Given the description of an element on the screen output the (x, y) to click on. 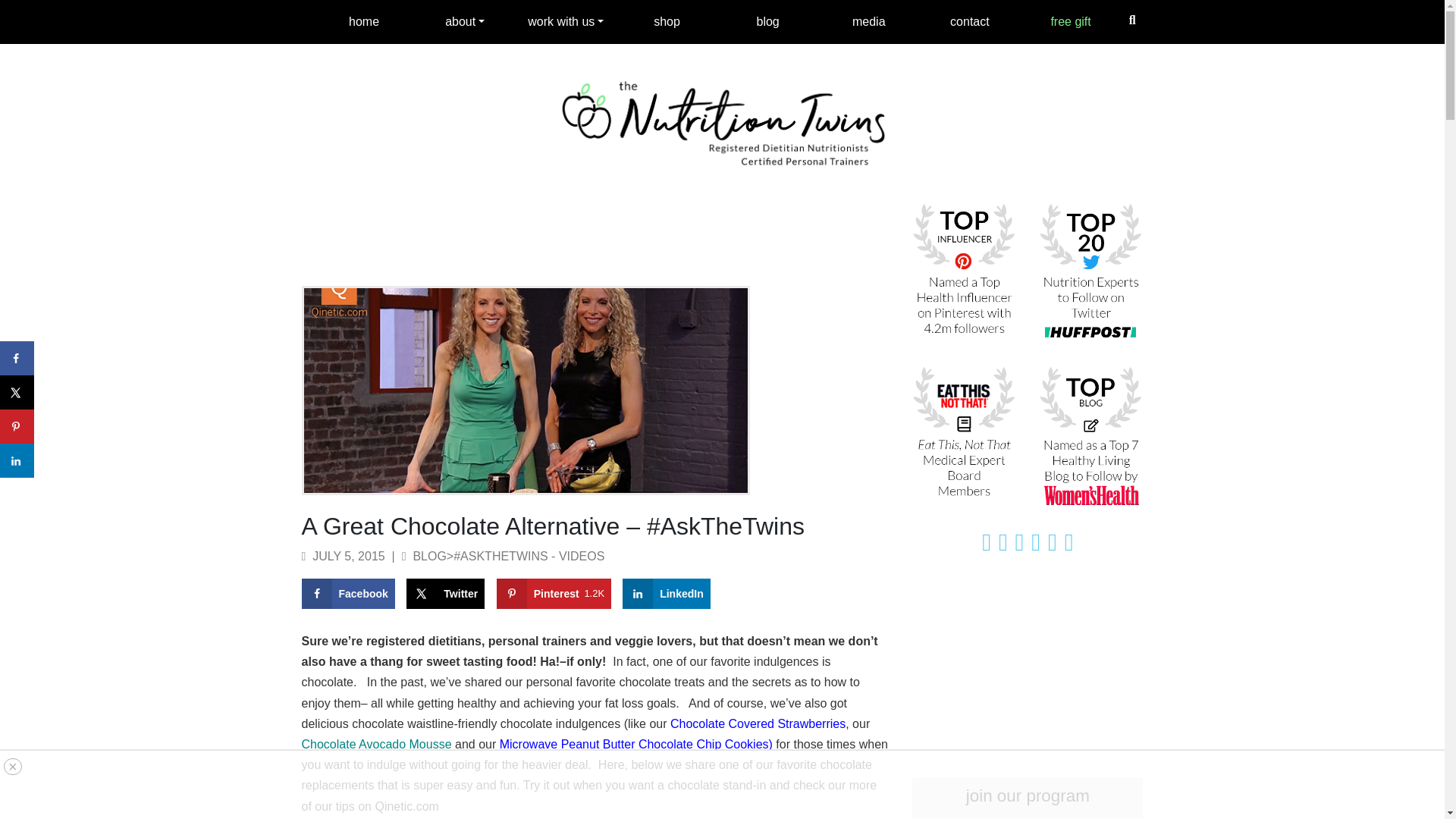
free gift (1070, 21)
Chocolate Avocado Mousse (376, 744)
media (868, 21)
LinkedIn (666, 593)
work with us (565, 21)
Facebook (347, 593)
contact (969, 21)
Work With Us (565, 21)
home (364, 21)
Home (364, 21)
blog (767, 21)
Chocolate Covered Strawberries (553, 593)
shop (757, 723)
Twitter (666, 21)
